Given the description of an element on the screen output the (x, y) to click on. 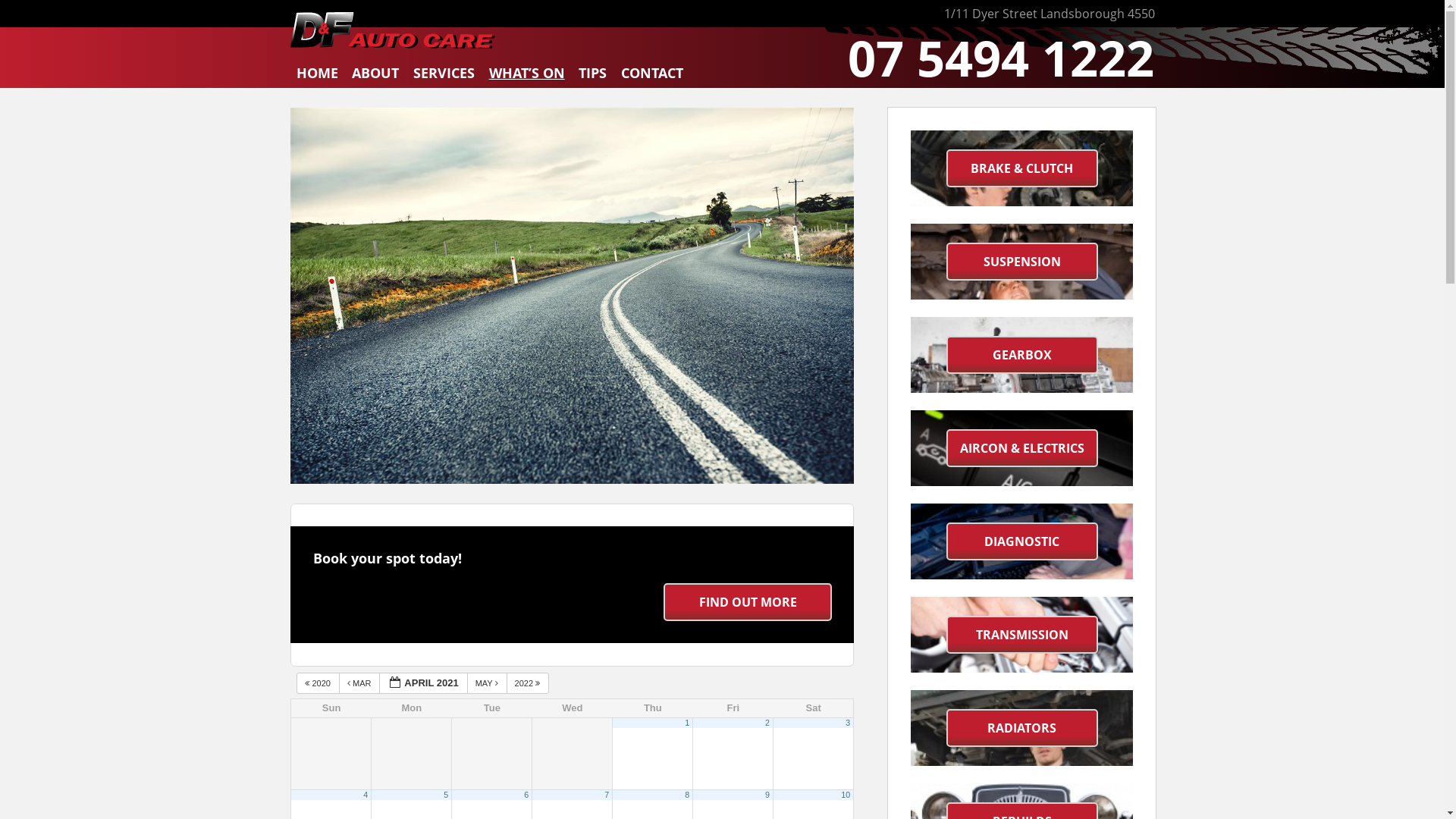
BRAKE & CLUTCH Element type: text (1022, 168)
ABOUT Element type: text (375, 75)
AIRCON & ELECTRICS Element type: text (1022, 448)
07 5494 1222 Element type: text (1000, 57)
5 Element type: text (445, 794)
4 Element type: text (365, 794)
6 Element type: text (526, 794)
2022 Element type: text (527, 682)
DIAGNOSTIC Element type: text (1022, 541)
2020 Element type: text (317, 682)
CONTACT Element type: text (652, 75)
8 Element type: text (686, 794)
3 Element type: text (847, 722)
TRANSMISSION Element type: text (1022, 634)
10 Element type: text (845, 794)
D & F Autocare
D & F Autocare Element type: text (392, 30)
9 Element type: text (767, 794)
FIND OUT MORE Element type: text (747, 602)
1 Element type: text (686, 722)
GEARBOX Element type: text (1022, 354)
MAY Element type: text (487, 682)
1/11 Dyer Street Landsborough 4550 Element type: text (1048, 13)
APRIL 2021 Element type: text (423, 682)
SERVICES Element type: text (443, 75)
HOME Element type: text (316, 75)
MAR Element type: text (359, 682)
SUSPENSION Element type: text (1022, 261)
7 Element type: text (606, 794)
RADIATORS Element type: text (1022, 727)
2 Element type: text (767, 722)
TIPS Element type: text (592, 75)
